Given the description of an element on the screen output the (x, y) to click on. 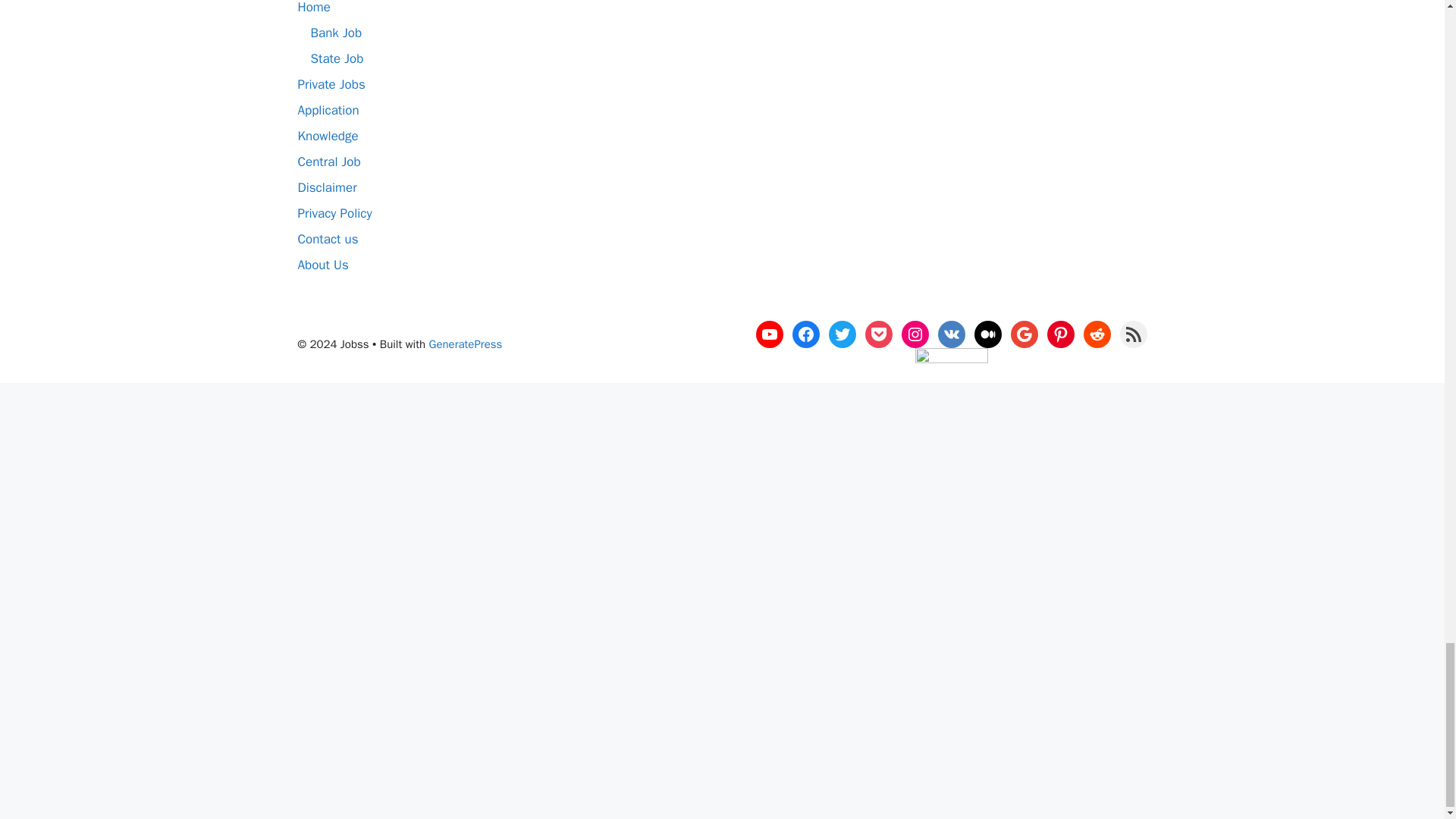
Knowledge (327, 135)
Application (327, 109)
State Job (337, 58)
Bank Job (336, 32)
Home (313, 7)
Central Job (328, 161)
Private Jobs (331, 84)
